Given the description of an element on the screen output the (x, y) to click on. 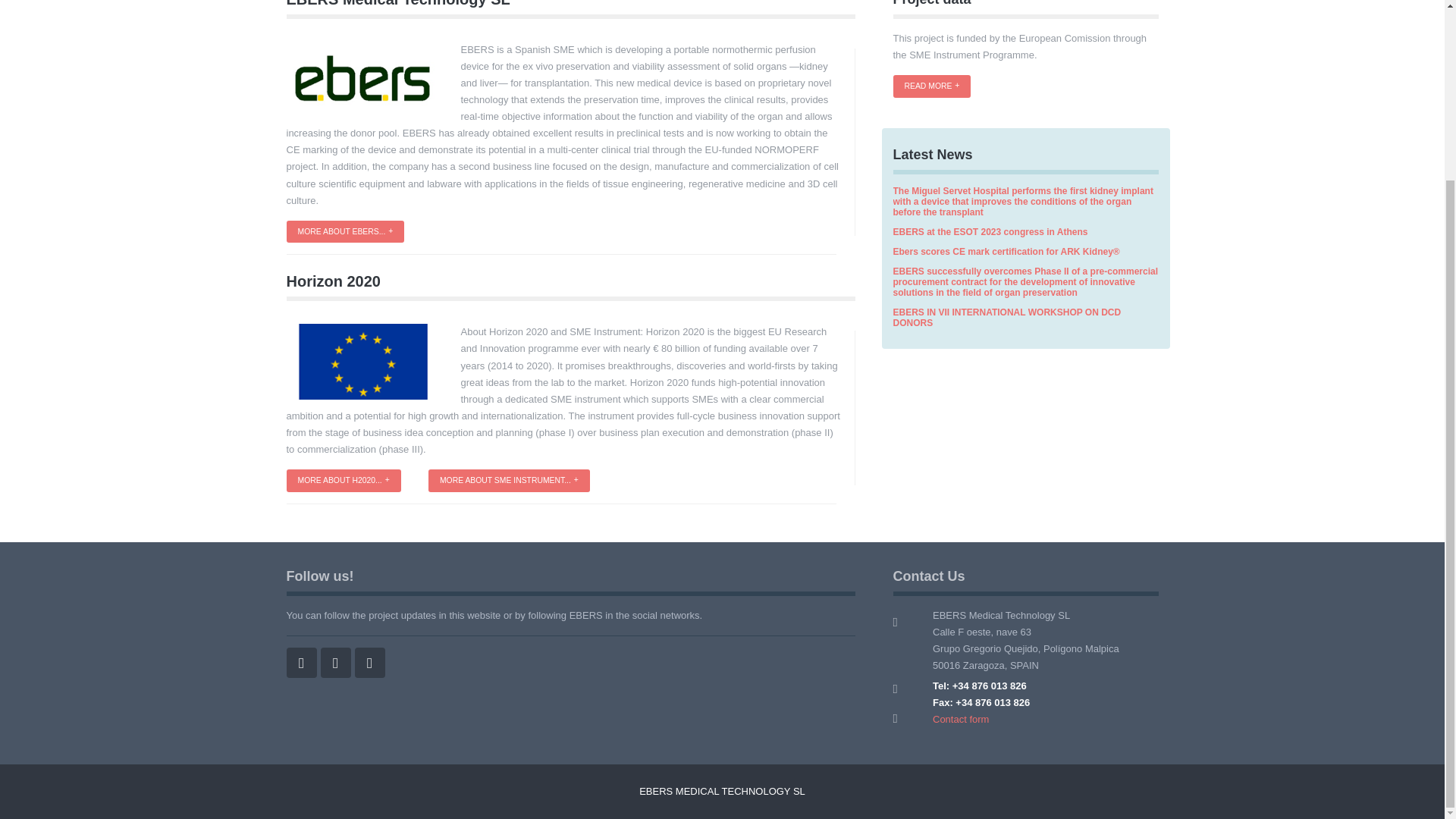
READ MORE (932, 86)
MORE ABOUT EBERS... (345, 231)
MORE ABOUT H2020... (343, 480)
EBERS IN VII INTERNATIONAL WORKSHOP ON DCD DONORS (1007, 317)
EBERS MEDICAL TECHNOLOGY SL (722, 790)
EBERS at the ESOT 2023 congress in Athens (990, 231)
rockettheme.com (722, 790)
MORE ABOUT SME INSTRUMENT... (508, 480)
Contact form (960, 718)
